Given the description of an element on the screen output the (x, y) to click on. 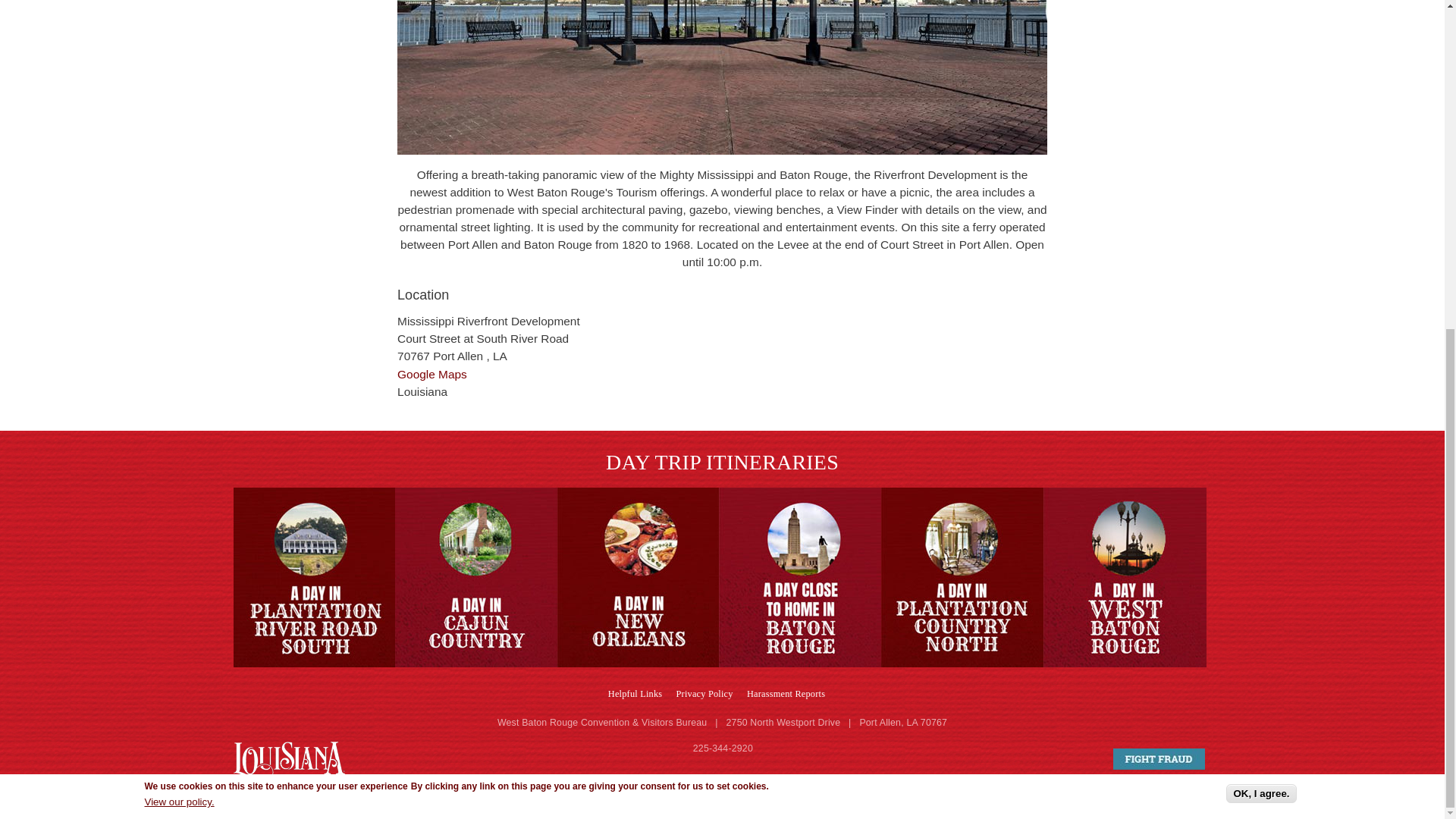
West Baton Rouge Itineraries (314, 577)
West Baton Rouge Itinerary (961, 577)
West Baton Rouge Itinerary (800, 577)
West Baton Rouge Itinerary (638, 577)
West Baton Rouge Itinerary (1125, 577)
West Baton Rouge Itinerary (475, 577)
